Given the description of an element on the screen output the (x, y) to click on. 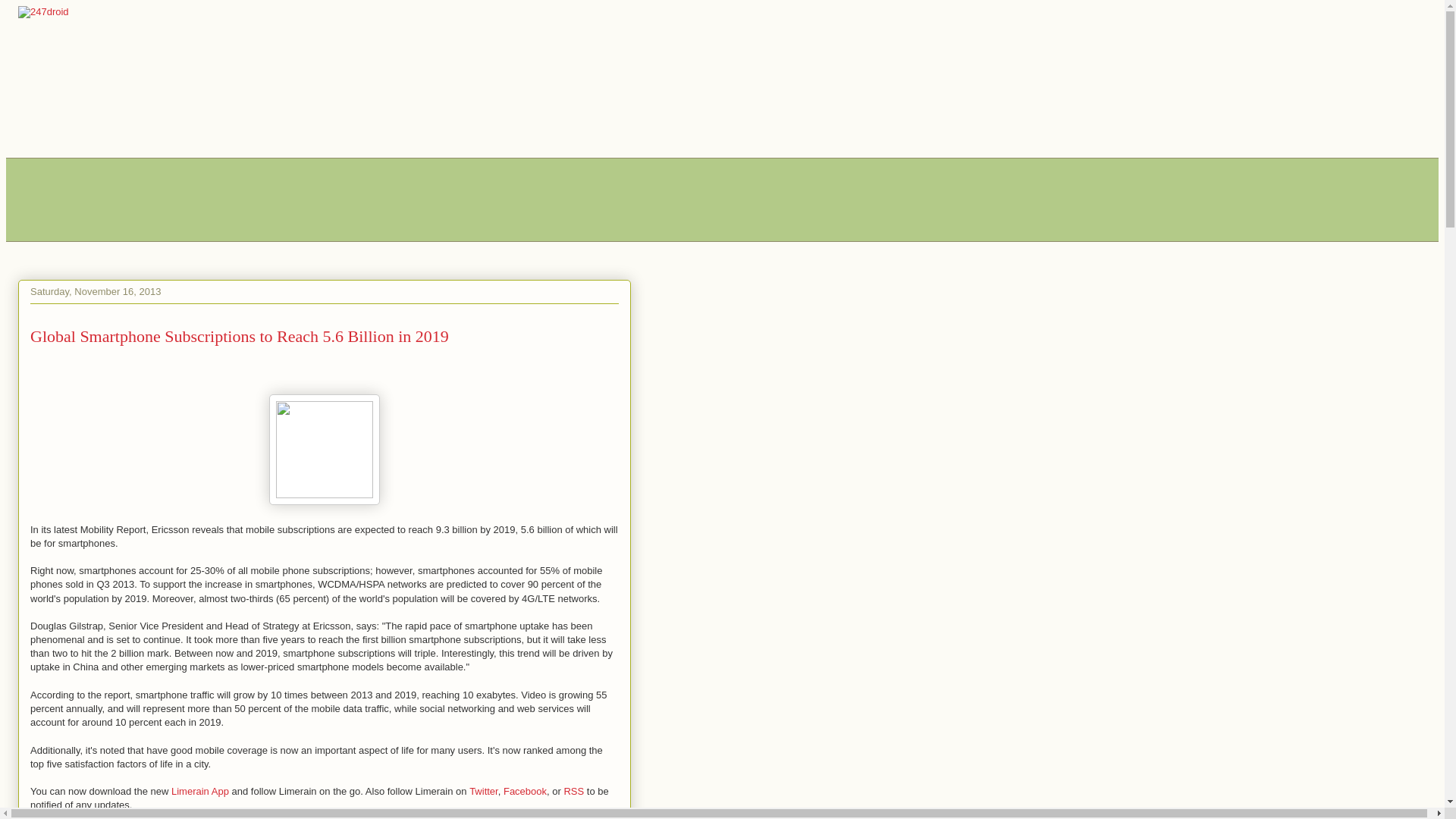
Limerain App Element type: text (200, 791)
RSS Element type: text (573, 791)
Facebook Element type: text (524, 791)
Twitter Element type: text (483, 791)
